Given the description of an element on the screen output the (x, y) to click on. 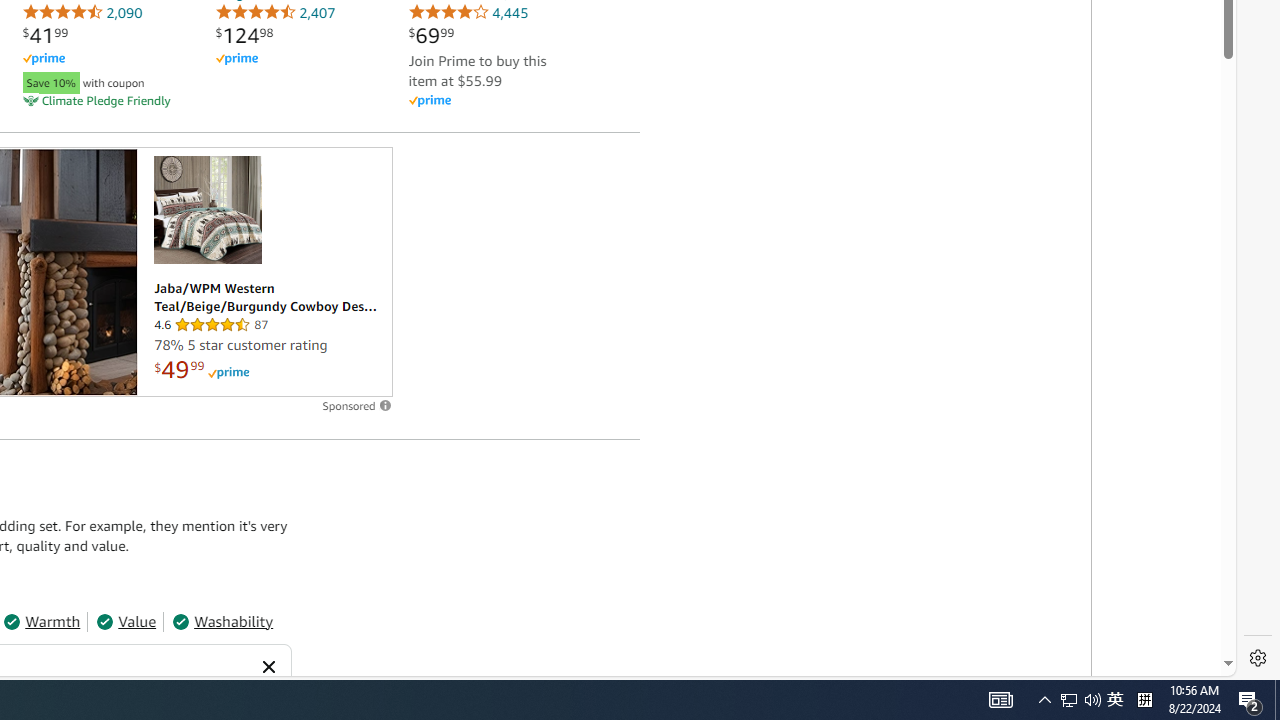
Washability (222, 621)
$124.98 (244, 35)
2,407 (275, 12)
Value (126, 621)
Join Prime to buy this item at $55.99 (477, 70)
Save 10% with coupon (102, 79)
4,445 (468, 12)
Warmth (41, 621)
Prime (228, 371)
$69.99 (431, 35)
2,090 (82, 12)
Amazon Prime (429, 101)
